Given the description of an element on the screen output the (x, y) to click on. 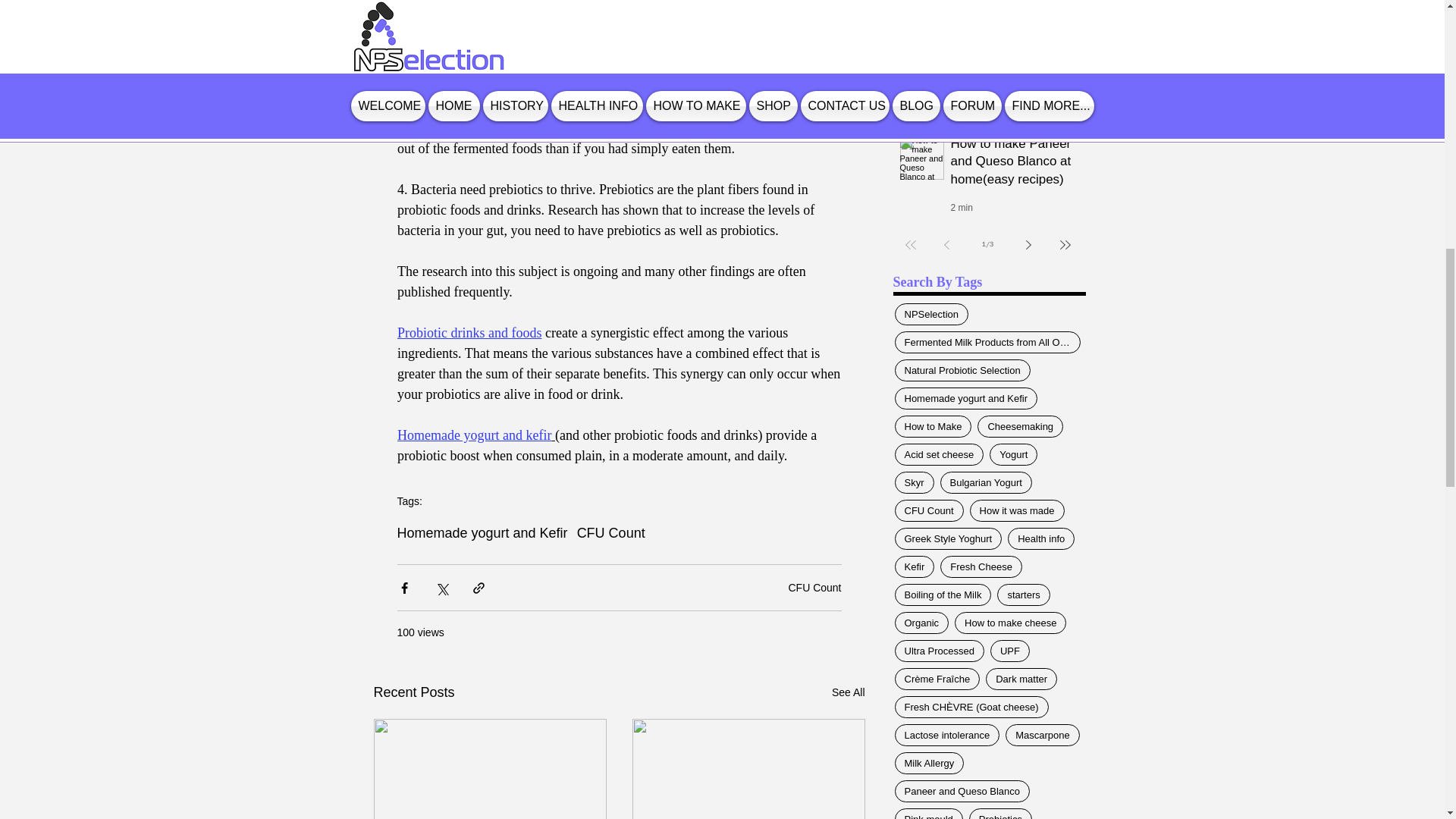
CFU Count (610, 533)
Homemade yogurt and Kefir (482, 533)
See All (847, 692)
Homemade yogurt and kefir (474, 435)
2 min (961, 108)
CFU Count (814, 586)
Probiotic drinks and foods (469, 332)
2 min (961, 207)
 fermented foods  (592, 87)
